Given the description of an element on the screen output the (x, y) to click on. 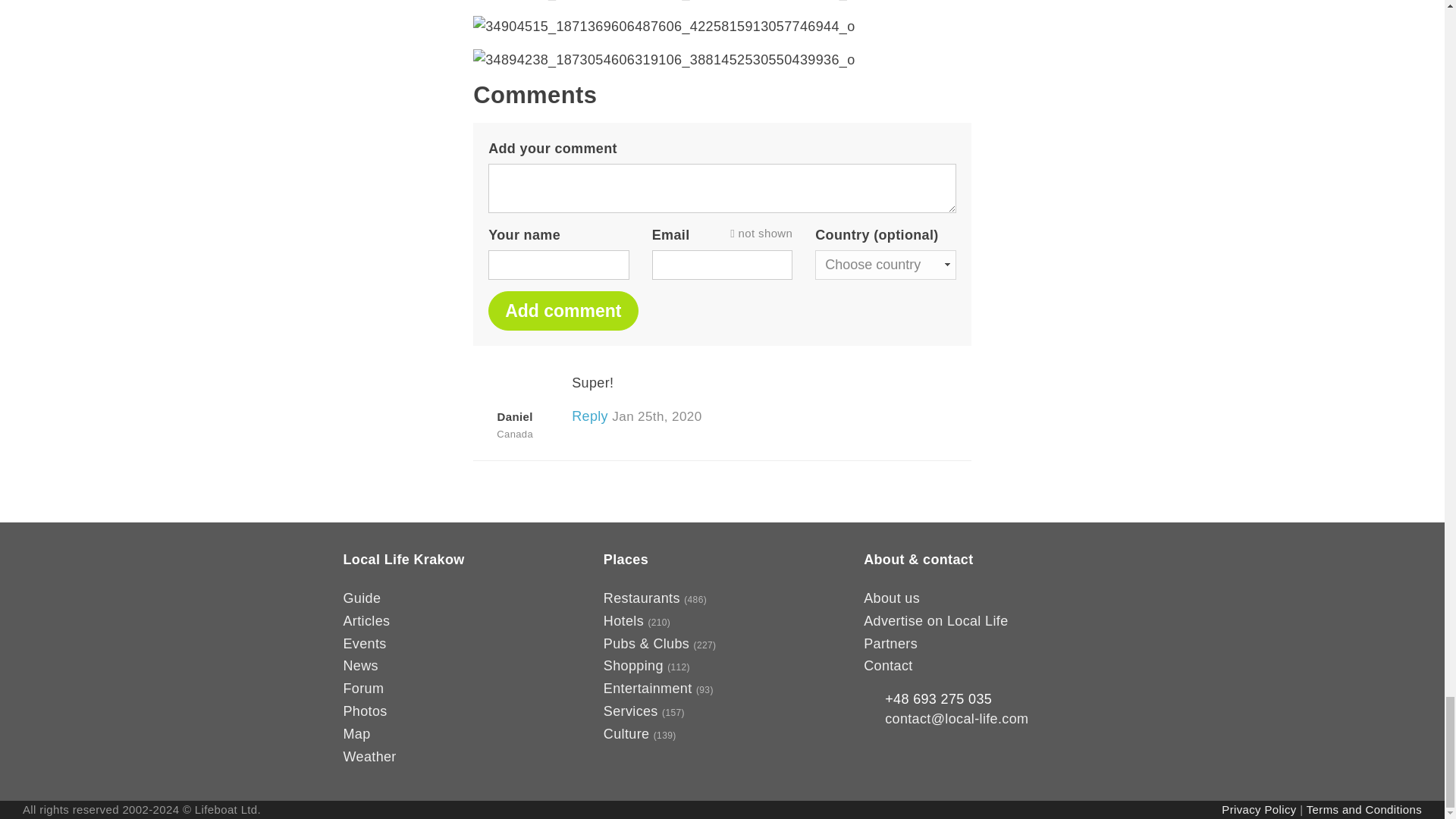
News (359, 665)
Reply (590, 416)
Map (355, 734)
Events (363, 643)
Photos (364, 711)
Articles (366, 620)
Hotels (623, 620)
Weather (369, 756)
Add comment (562, 311)
Restaurants (641, 598)
